Given the description of an element on the screen output the (x, y) to click on. 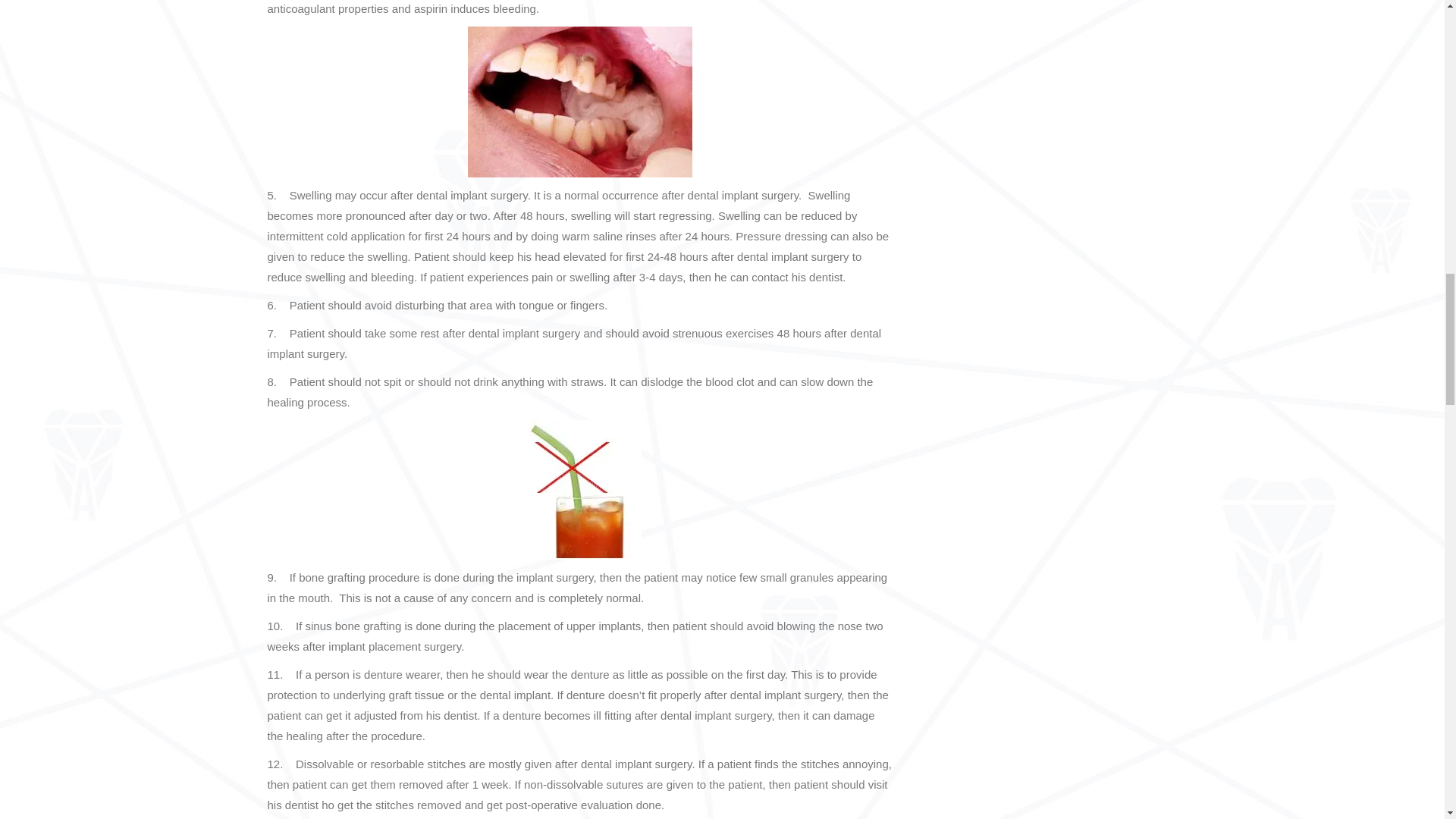
ST.jpg (579, 489)
tooth extracted1.JPG (579, 101)
